Given the description of an element on the screen output the (x, y) to click on. 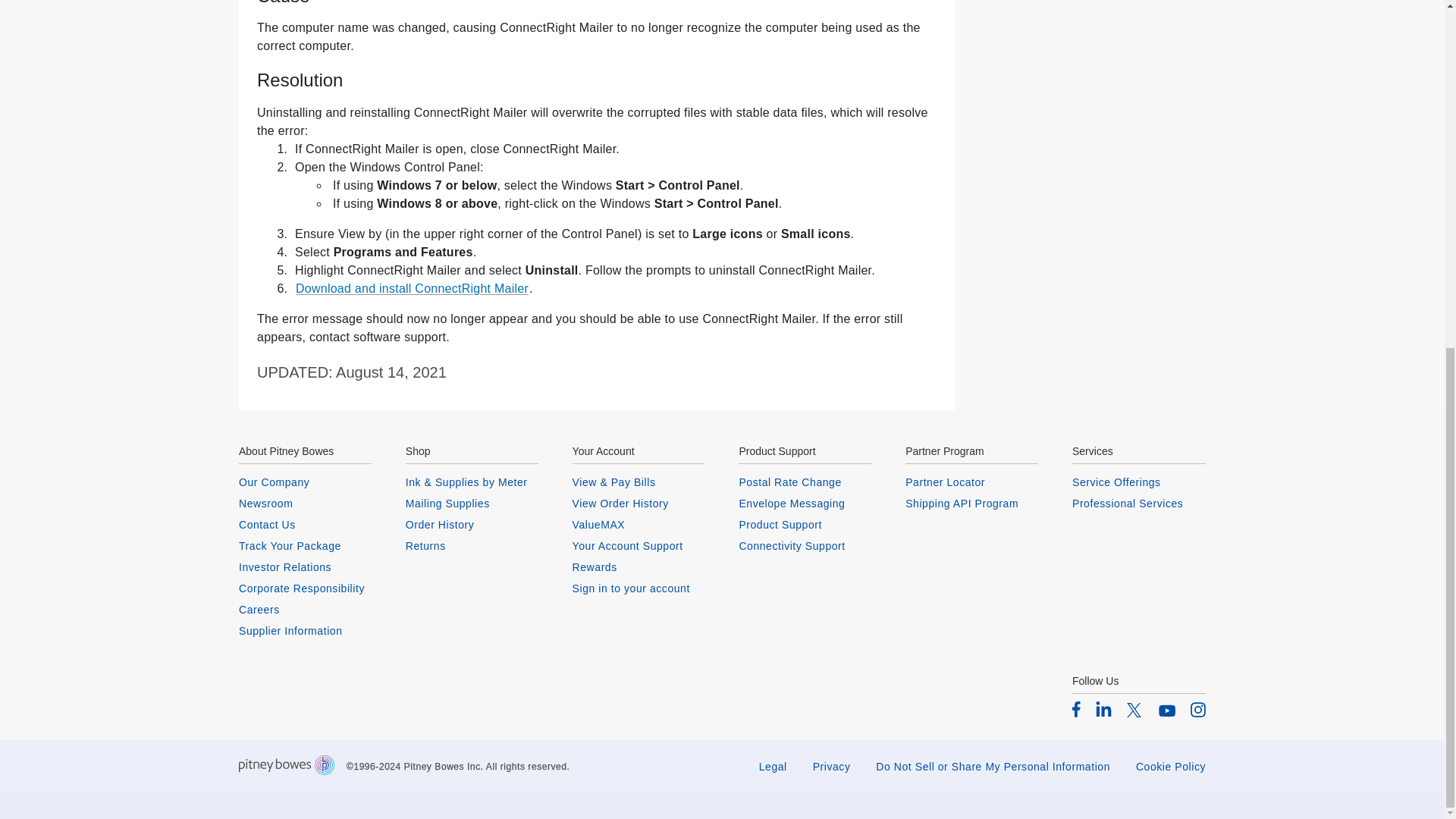
Our Company (304, 481)
Contact Us (304, 524)
Newsroom (304, 503)
